Given the description of an element on the screen output the (x, y) to click on. 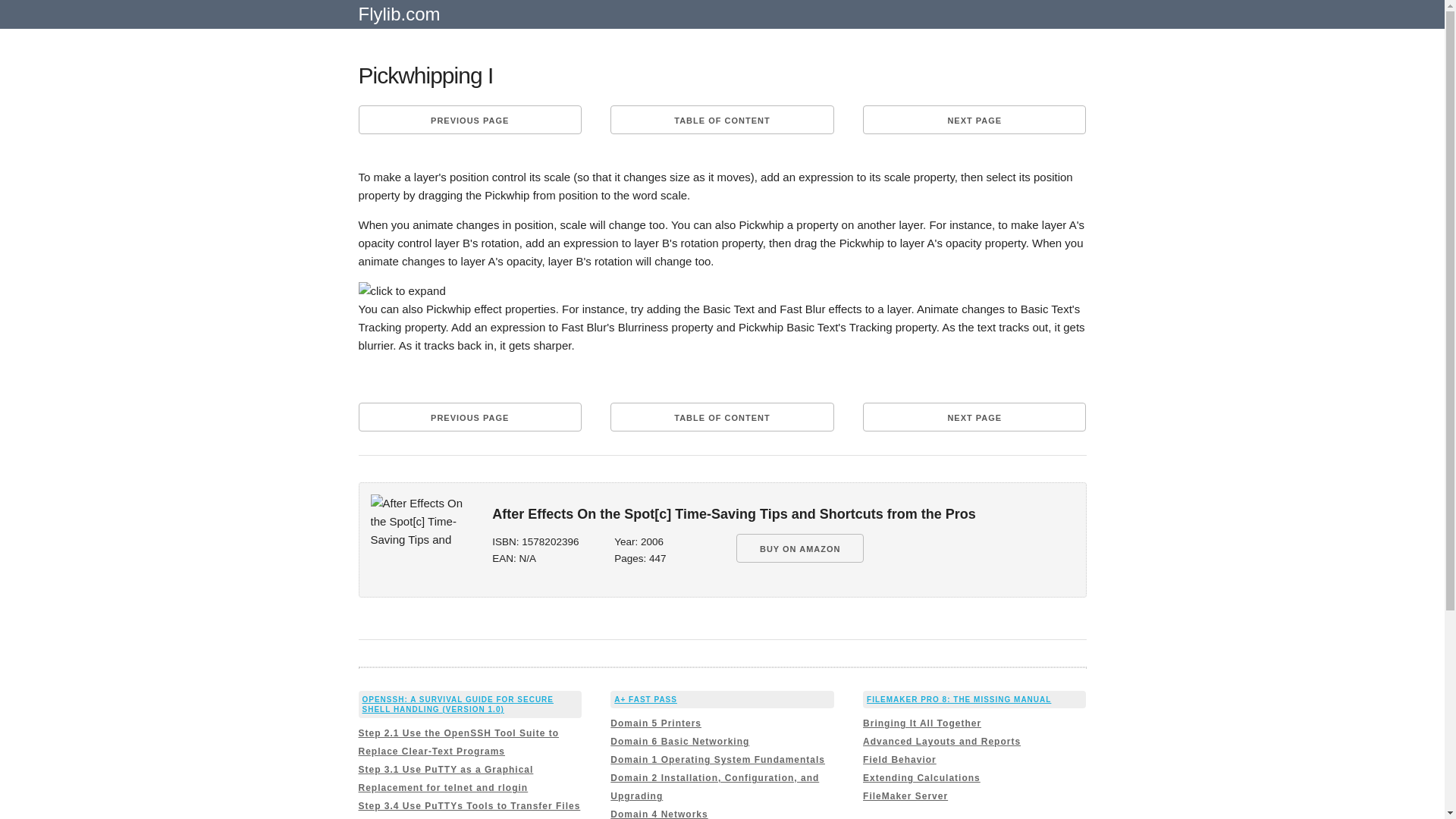
NEXT PAGE (974, 119)
Bringing It All Together (922, 723)
Advanced Layouts and Reports (941, 741)
Field Behavior (899, 759)
PREVIOUS PAGE (469, 119)
Extending Calculations (921, 777)
FileMaker Server (905, 796)
NEXT PAGE (974, 416)
Domain 4 Networks (658, 814)
Domain 6 Basic Networking (679, 741)
Flylib.com (398, 19)
Domain 2 Installation, Configuration, and Upgrading (714, 787)
TABLE OF CONTENT (721, 119)
